Given the description of an element on the screen output the (x, y) to click on. 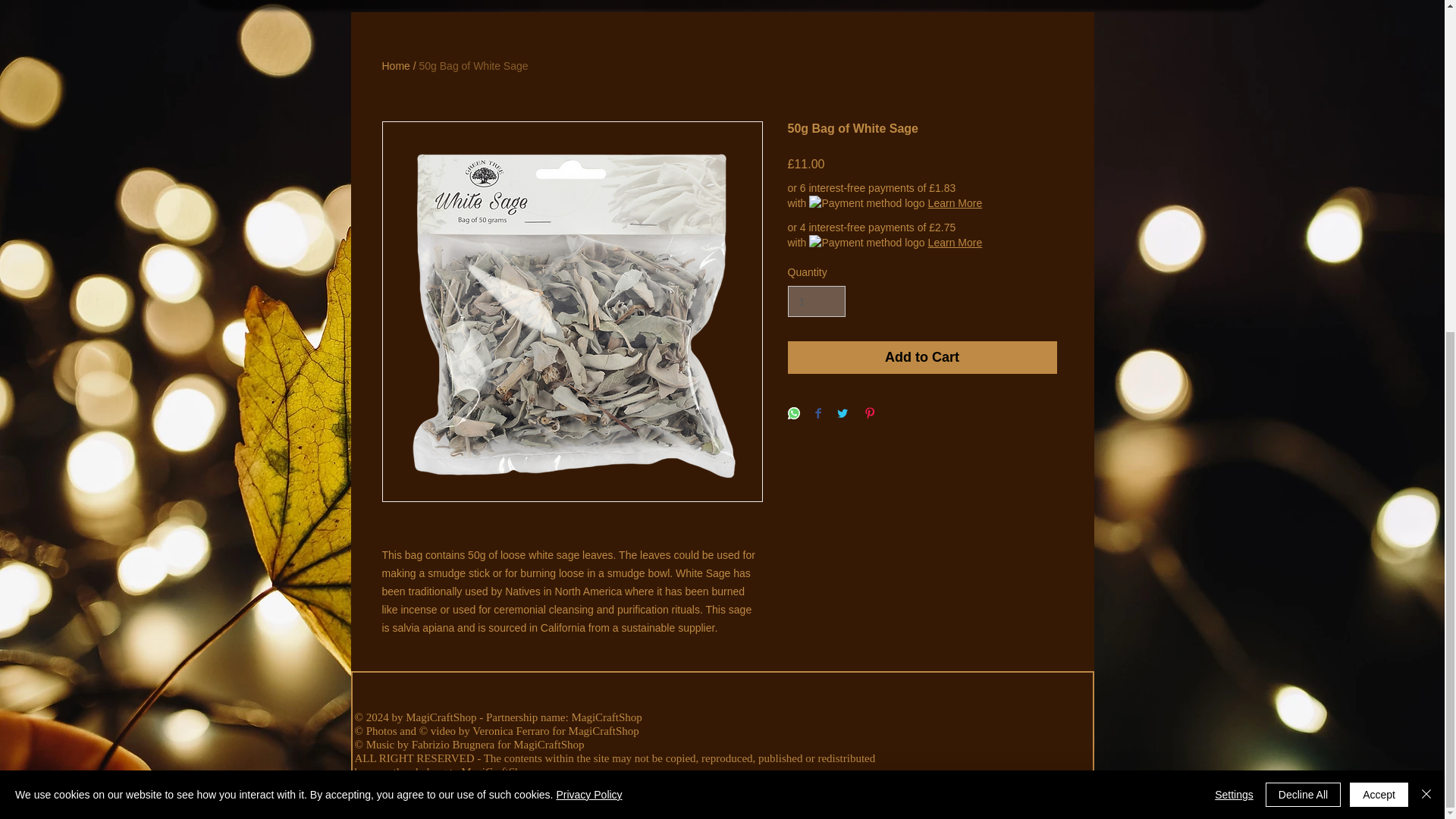
1 (815, 300)
Home (395, 65)
50g Bag of White Sage (473, 65)
